Given the description of an element on the screen output the (x, y) to click on. 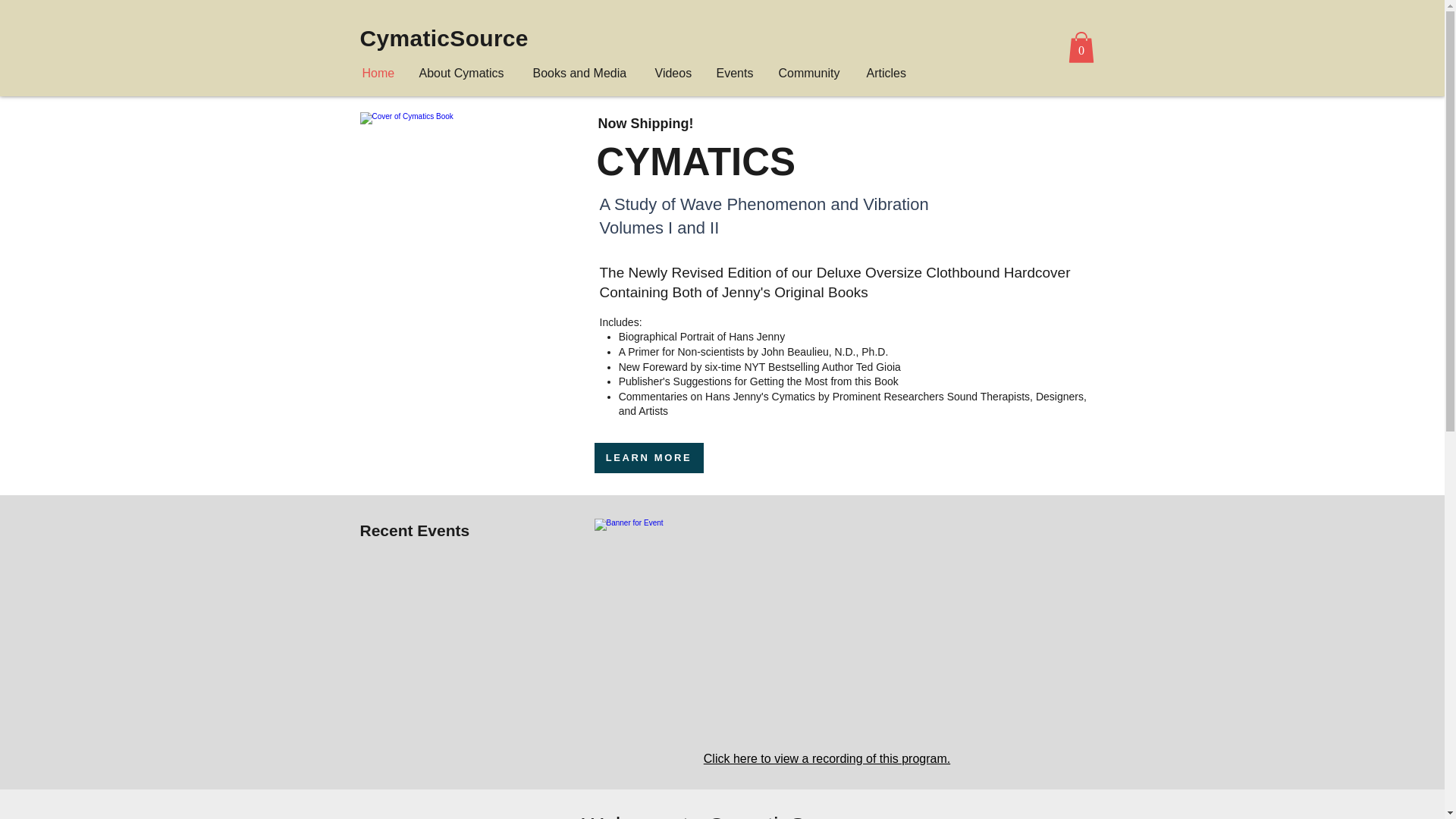
LEARN MORE (648, 458)
Videos (673, 72)
About Cymatics (464, 72)
Events (735, 72)
Click here to view a recording of this program. (826, 758)
0 (1080, 47)
0 (1080, 46)
CymtaicsRevisedEditionCover.png (467, 227)
Community (811, 72)
Articles (888, 72)
Books and Media (582, 72)
Home (378, 72)
